Given the description of an element on the screen output the (x, y) to click on. 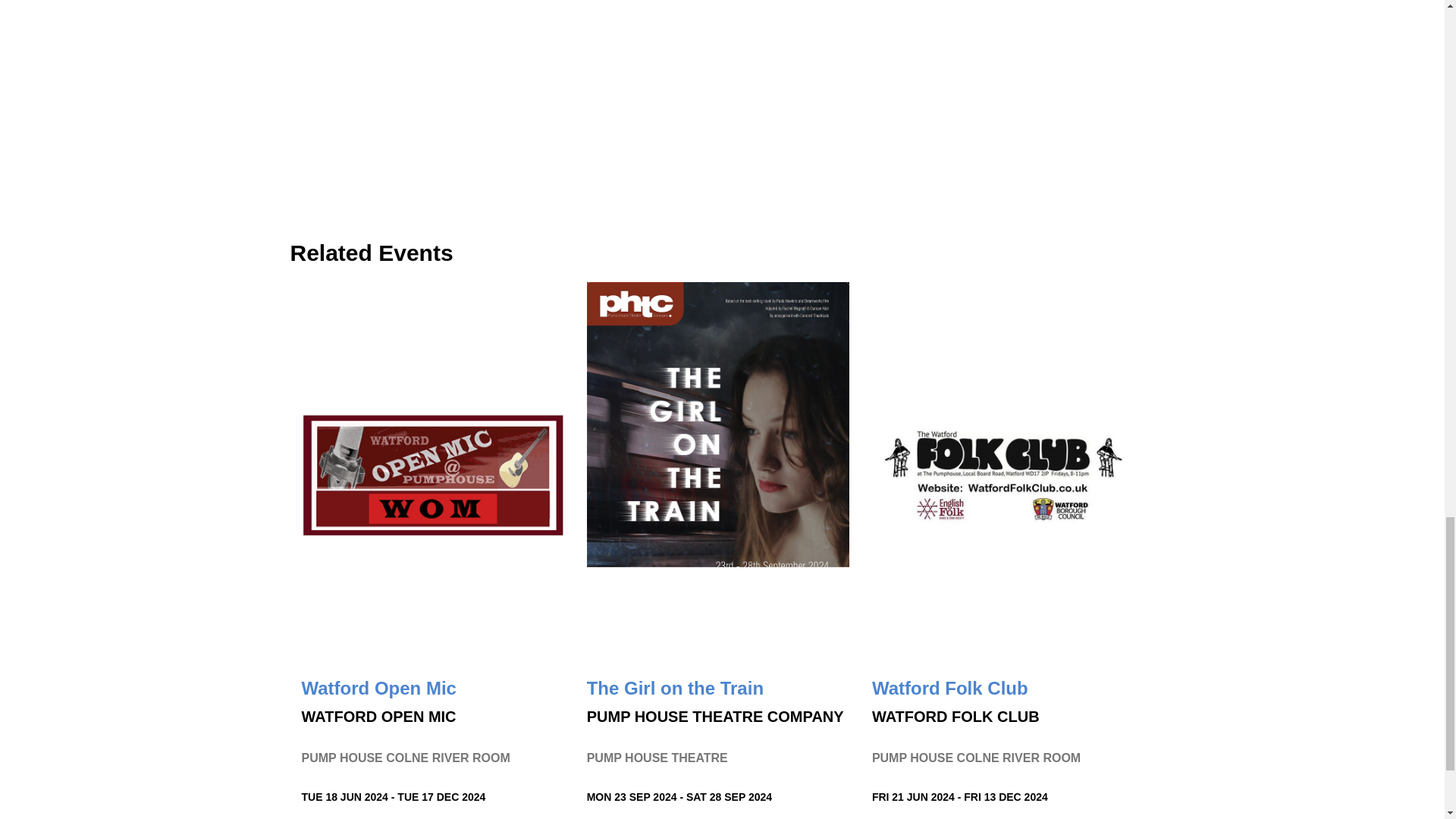
The Girl on the Train (674, 688)
Watford Open Mic (379, 688)
Watford Folk Club (949, 688)
